Given the description of an element on the screen output the (x, y) to click on. 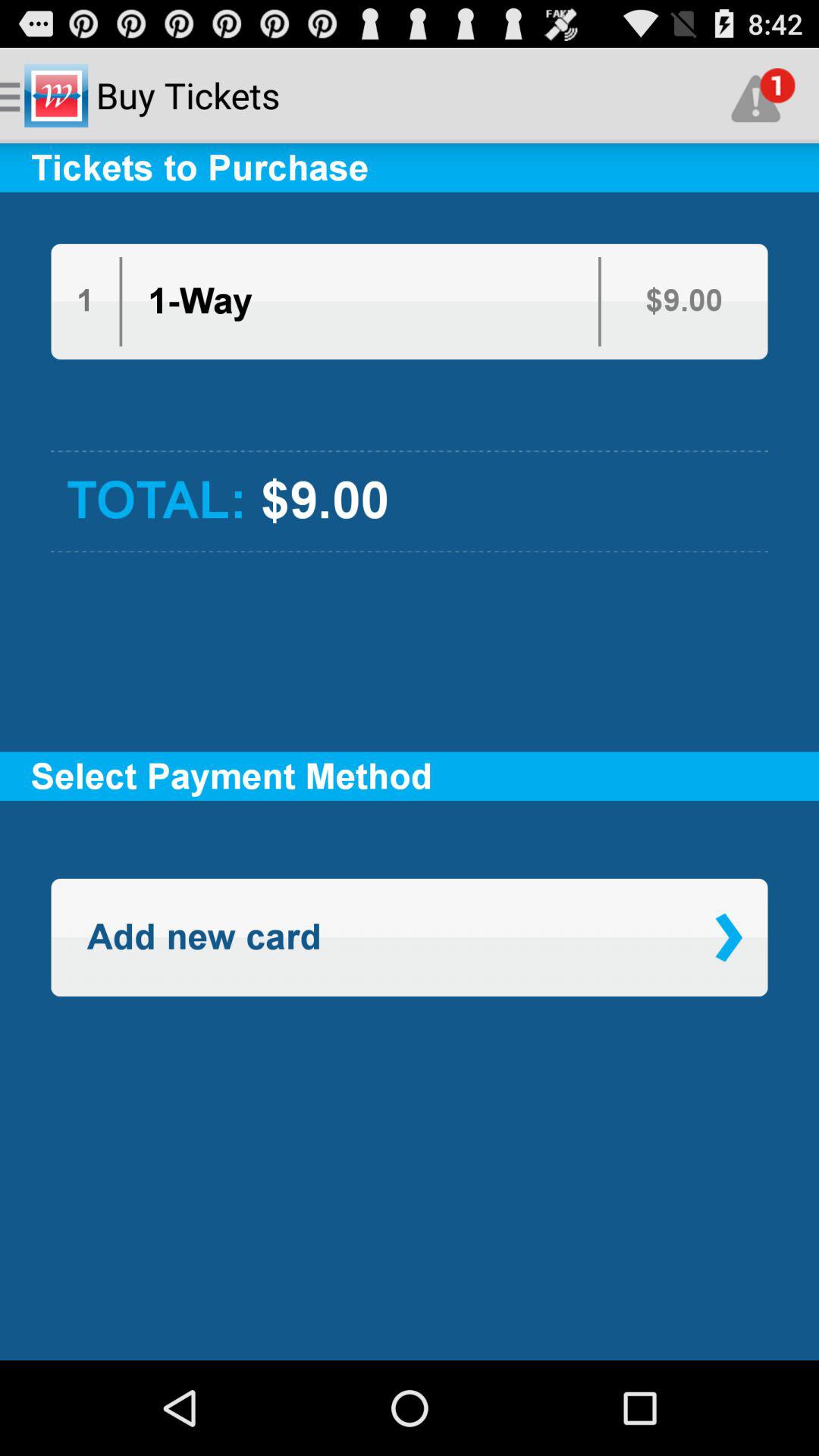
jump until the select payment method (409, 775)
